Given the description of an element on the screen output the (x, y) to click on. 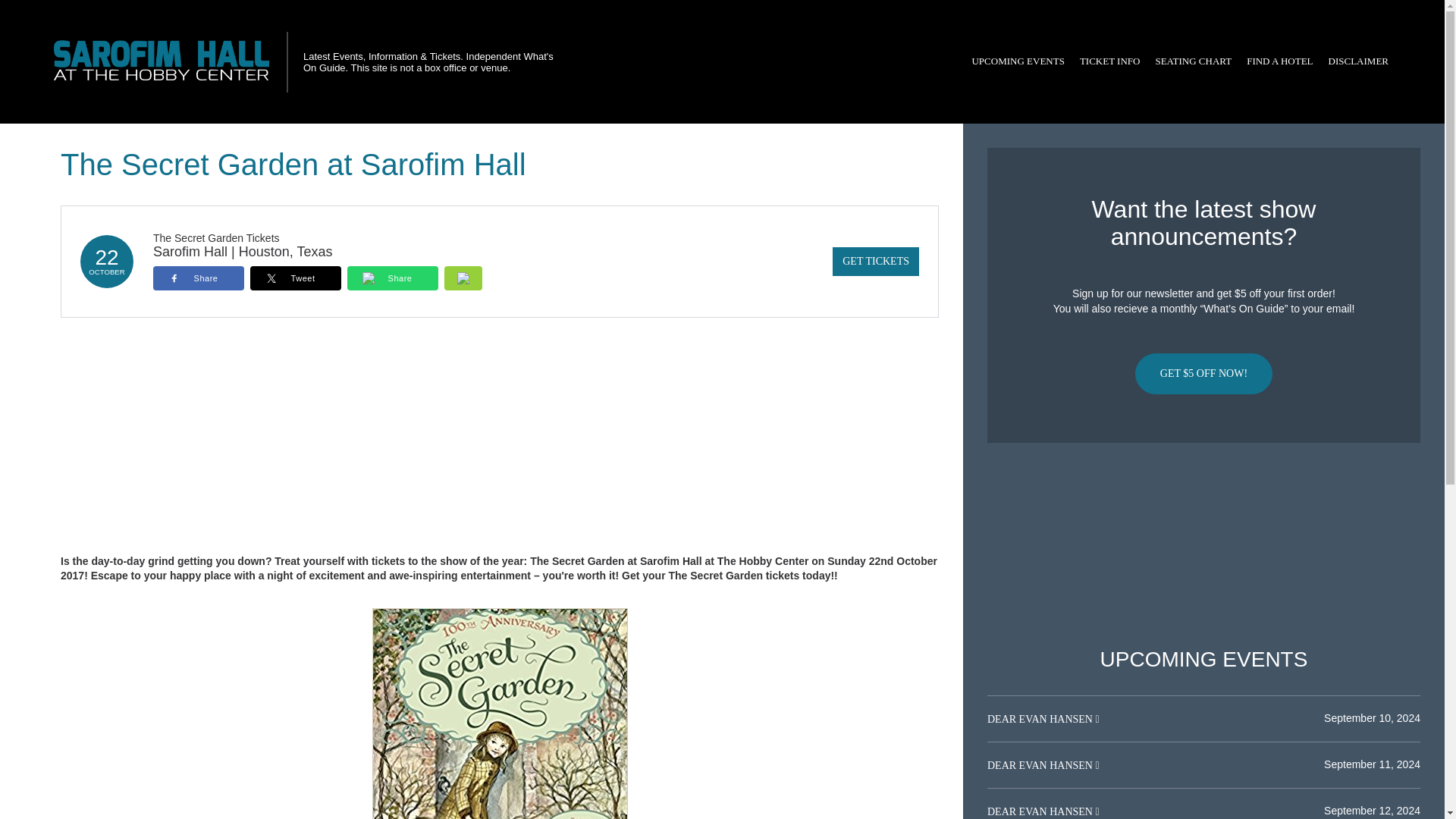
UPCOMING EVENTS (1017, 61)
DEAR EVAN HANSEN (1040, 765)
GET TICKETS (875, 261)
FIND A HOTEL (1279, 61)
Advertisement (1204, 545)
DEAR EVAN HANSEN (1040, 718)
TICKET INFO (1109, 61)
The Secret Garden at Sarofim Hall at The Hobby Center (499, 713)
SEATING CHART (1193, 61)
The Secret Garden Tickets (215, 237)
